Given the description of an element on the screen output the (x, y) to click on. 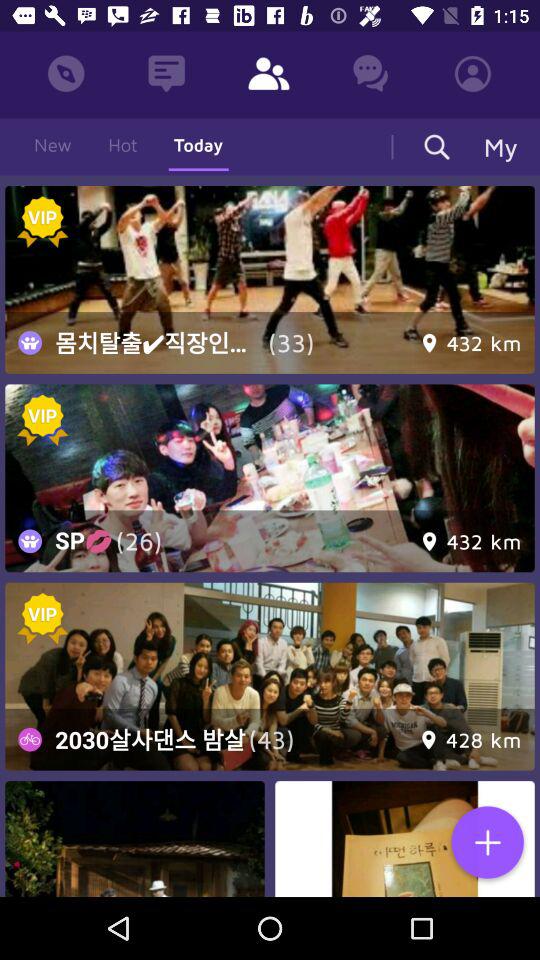
add photo (487, 844)
